Given the description of an element on the screen output the (x, y) to click on. 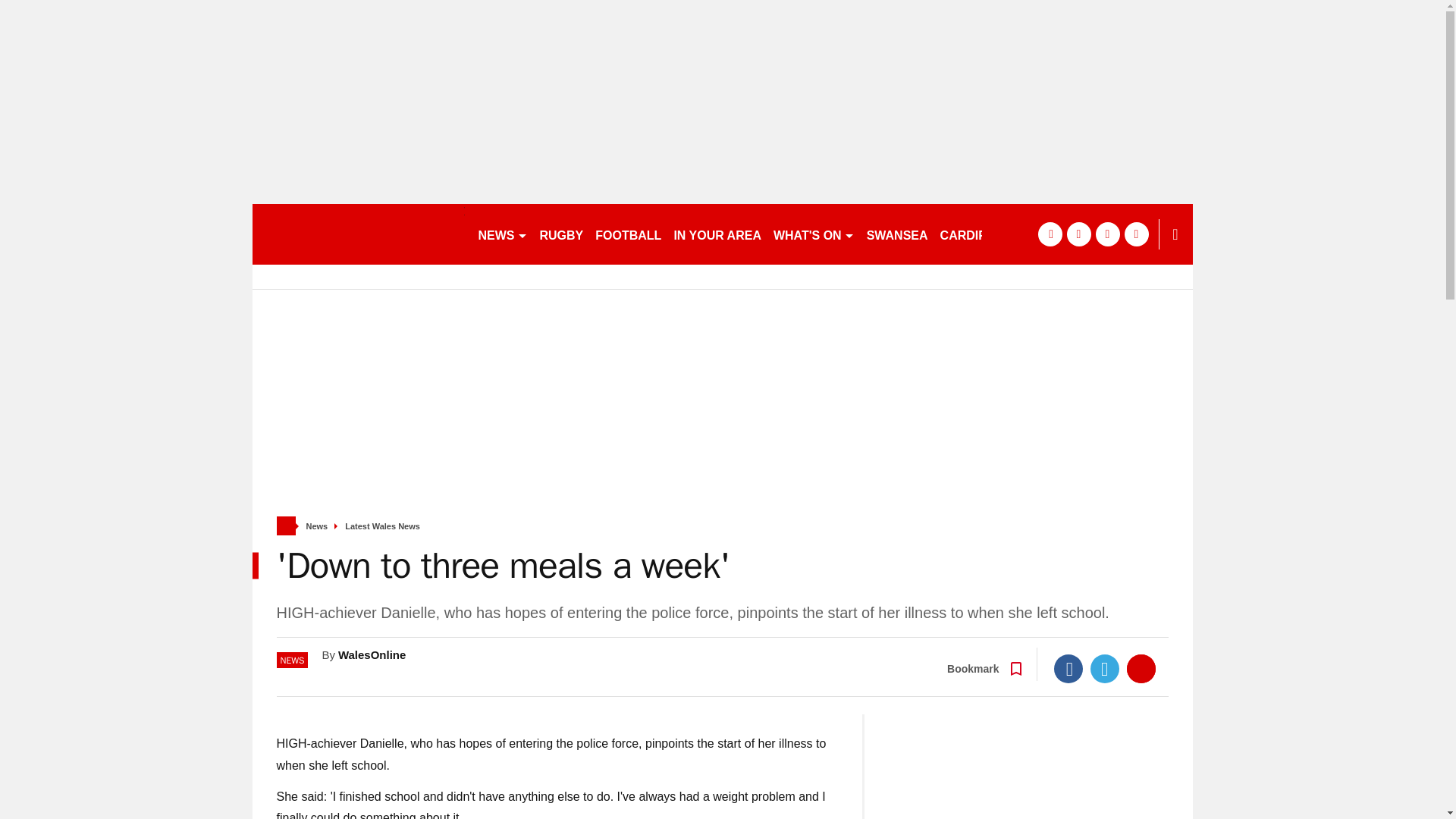
facebook (1048, 233)
pinterest (1106, 233)
Twitter (1104, 668)
walesonline (357, 233)
instagram (1136, 233)
FOOTBALL (627, 233)
NEWS (501, 233)
WHAT'S ON (813, 233)
twitter (1077, 233)
RUGBY (561, 233)
